Given the description of an element on the screen output the (x, y) to click on. 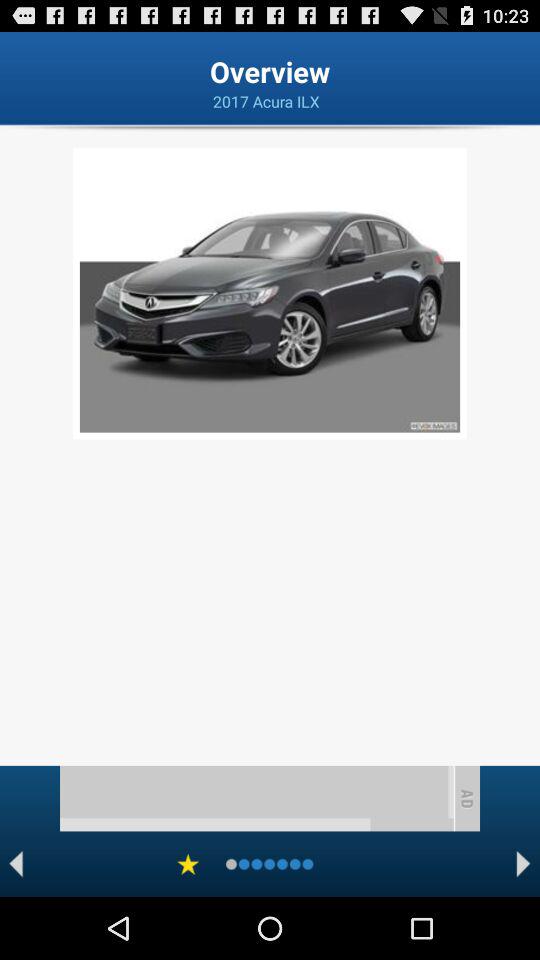
move right one picture (523, 864)
